Given the description of an element on the screen output the (x, y) to click on. 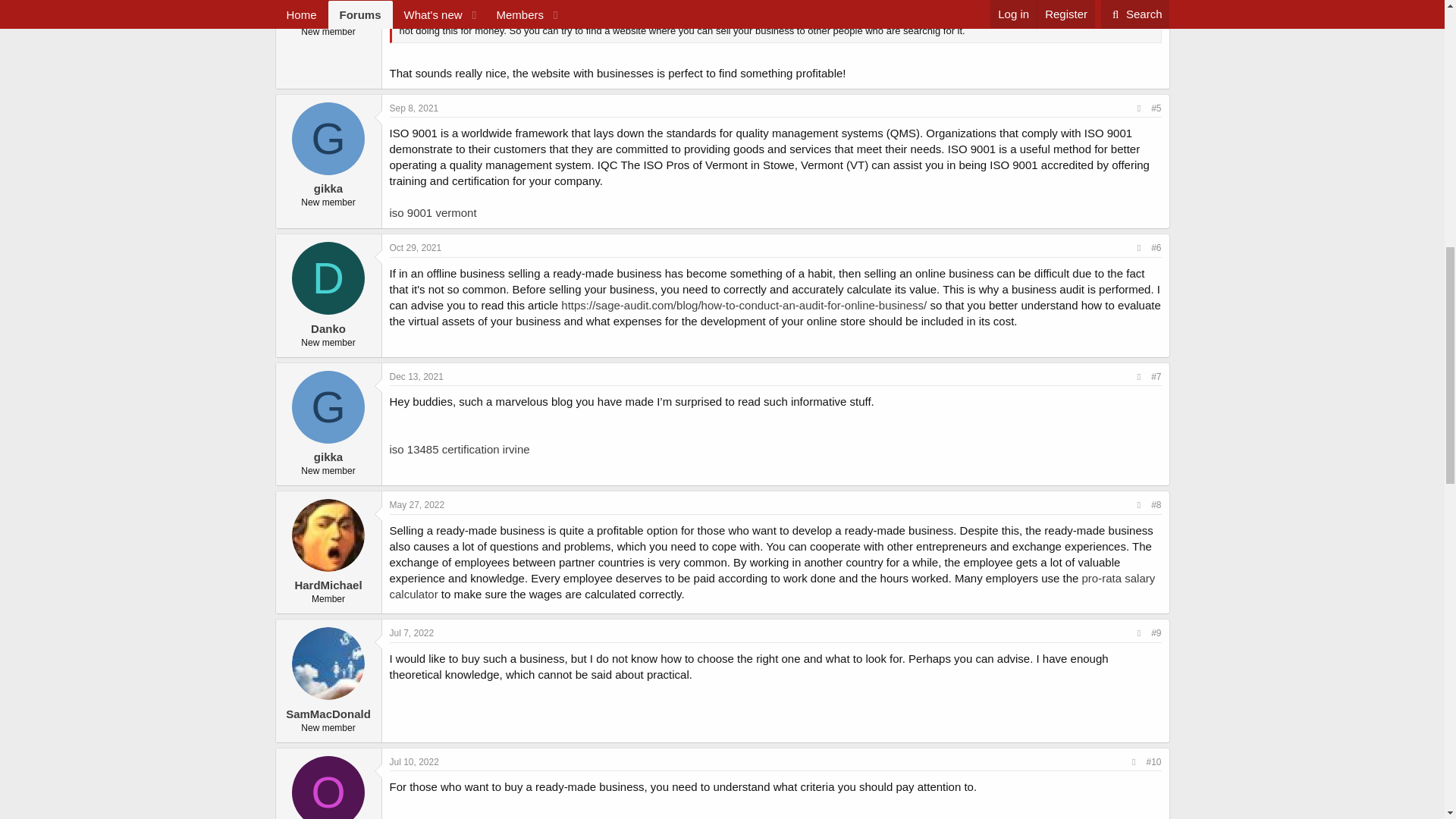
Oct 29, 2021 at 7:01 PM (416, 247)
May 27, 2022 at 3:57 PM (417, 504)
Jul 10, 2022 at 10:54 PM (414, 761)
Jul 7, 2022 at 6:49 AM (411, 633)
Dec 13, 2021 at 1:02 PM (417, 376)
Sep 8, 2021 at 1:33 PM (414, 108)
